Given the description of an element on the screen output the (x, y) to click on. 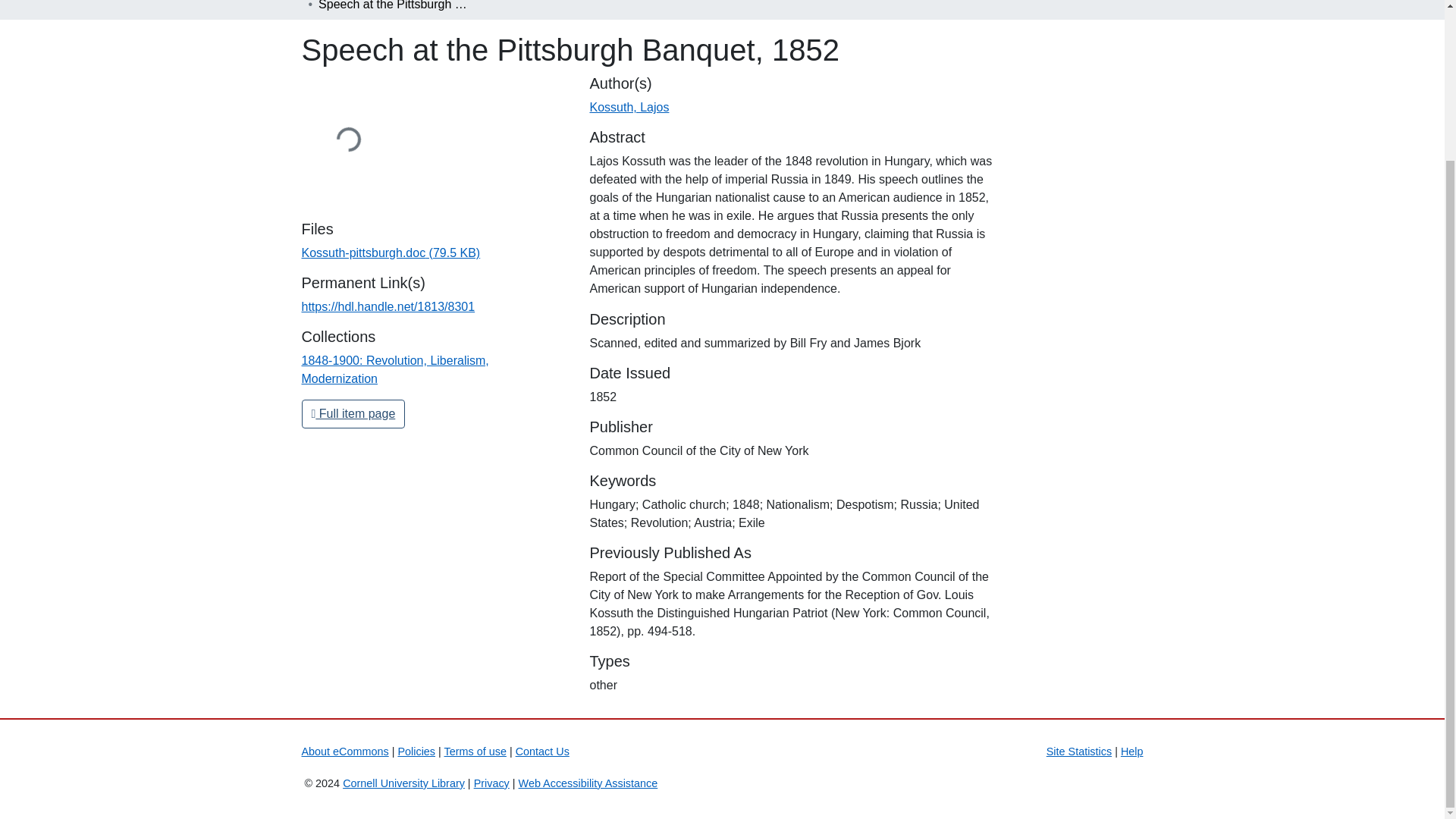
Web Accessibility Assistance (588, 783)
Help (1131, 751)
About eCommons (344, 751)
Site Statistics (1079, 751)
Policies (416, 751)
Full item page (353, 413)
Cornell University Library (403, 783)
Terms of use (475, 751)
Contact Us (542, 751)
Kossuth, Lajos (628, 106)
